Given the description of an element on the screen output the (x, y) to click on. 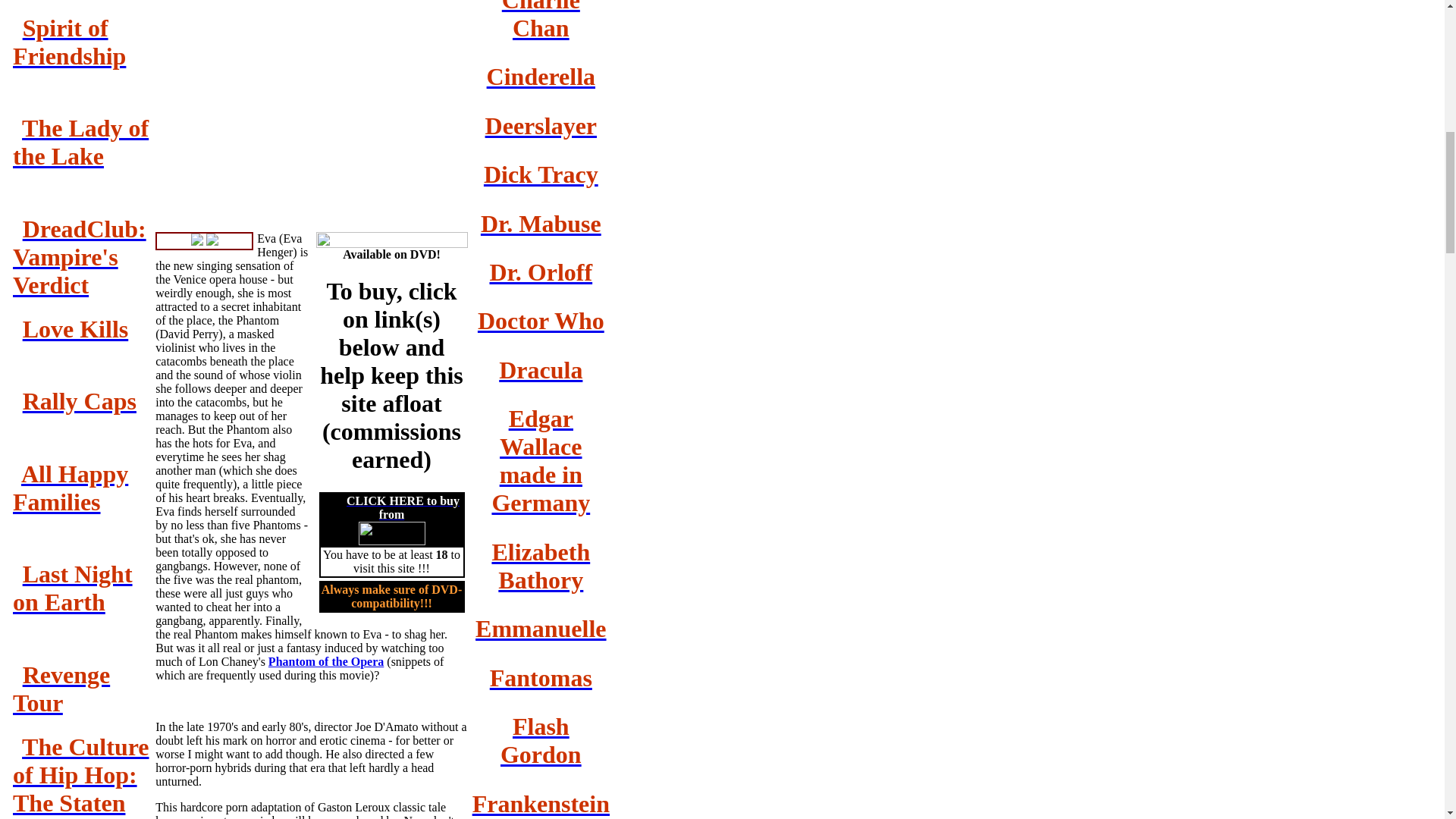
Spirit of Friendship (69, 41)
Love Kills (76, 329)
All Happy Families (70, 487)
The Culture of Hip Hop: The Staten Island Story - Part 3 (81, 776)
Last Night on Earth (72, 587)
Rally Caps (79, 400)
The Lady of the Lake (80, 141)
Revenge Tour (61, 688)
DreadClub: Vampire's Verdict (80, 256)
